Given the description of an element on the screen output the (x, y) to click on. 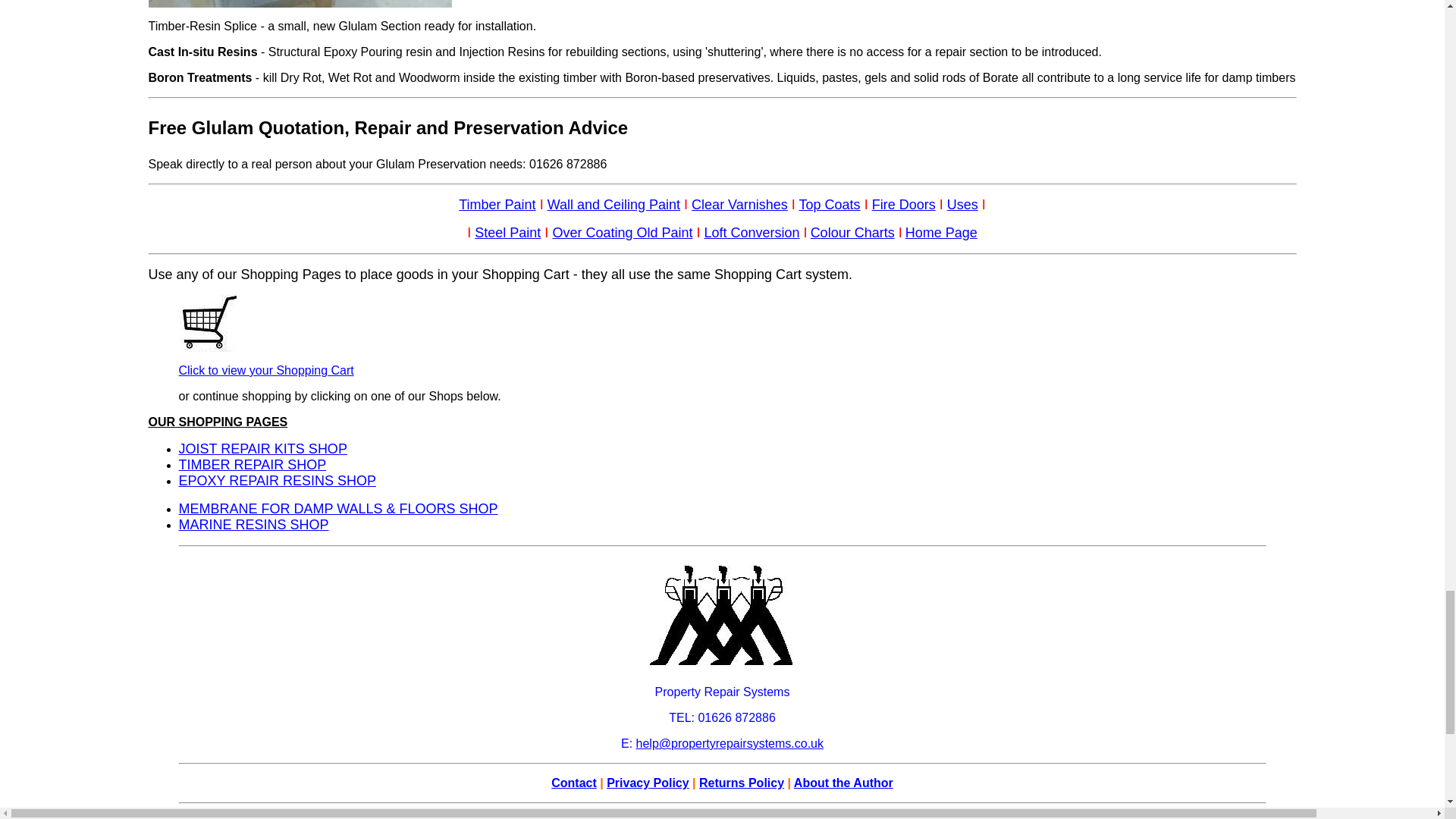
Clear Varnishes (739, 204)
Home Page (940, 232)
Colour Charts (852, 232)
Fire Doors (904, 204)
TIMBER REPAIR SHOP (252, 464)
Loft Conversion (751, 232)
Steel Paint (507, 232)
Contact (573, 782)
JOIST REPAIR KITS SHOP (263, 448)
Privacy Policy (647, 782)
MARINE RESINS SHOP (254, 524)
David Moore (296, 817)
Returns Policy (741, 782)
Wall and Ceiling Paint (613, 204)
Uses (962, 204)
